Given the description of an element on the screen output the (x, y) to click on. 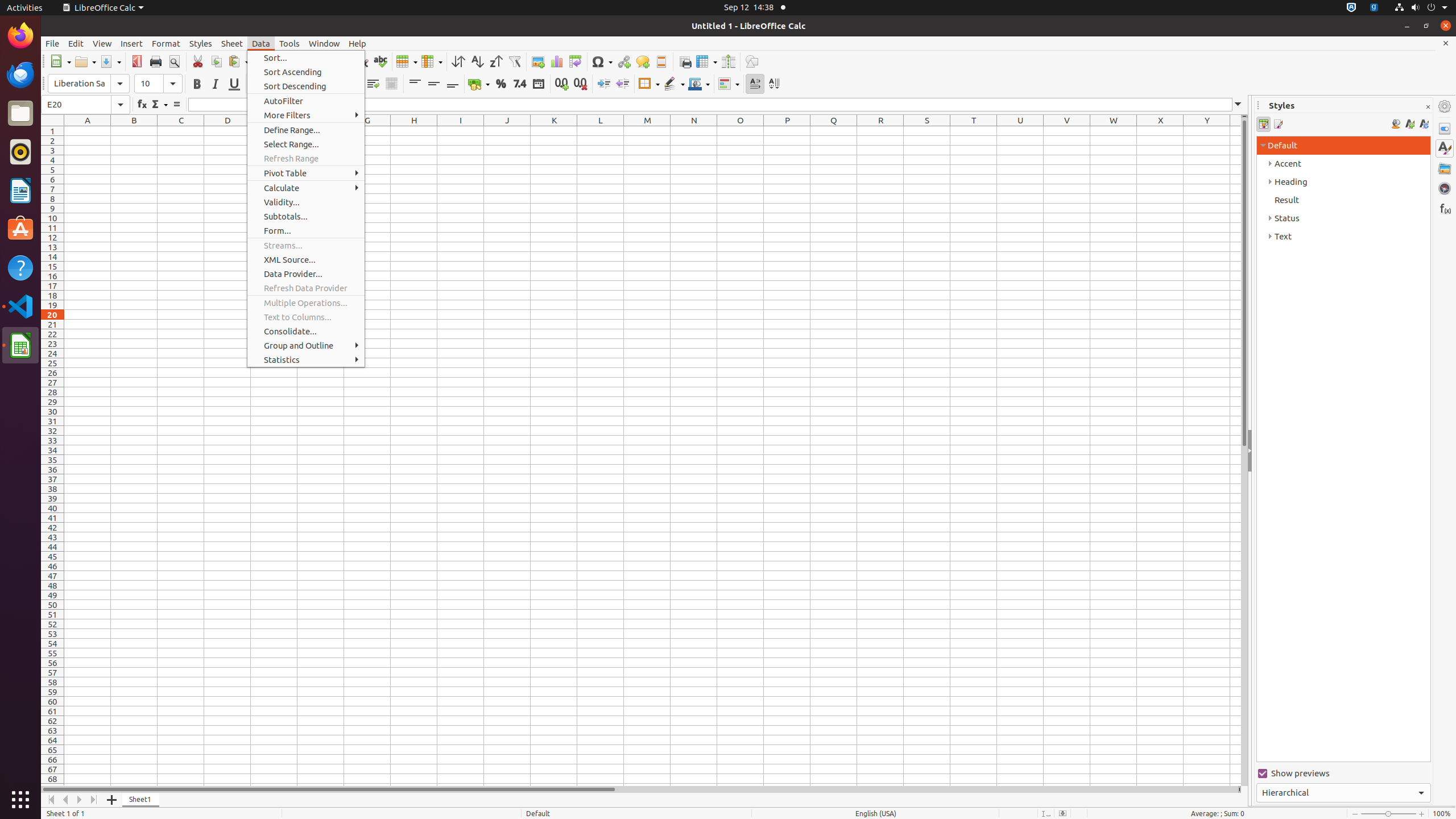
Vertical scroll bar Element type: scroll-bar (1244, 451)
J1 Element type: table-cell (507, 130)
Group and Outline Element type: menu (305, 345)
Calculate Element type: menu (305, 187)
Percent Element type: push-button (500, 83)
